Given the description of an element on the screen output the (x, y) to click on. 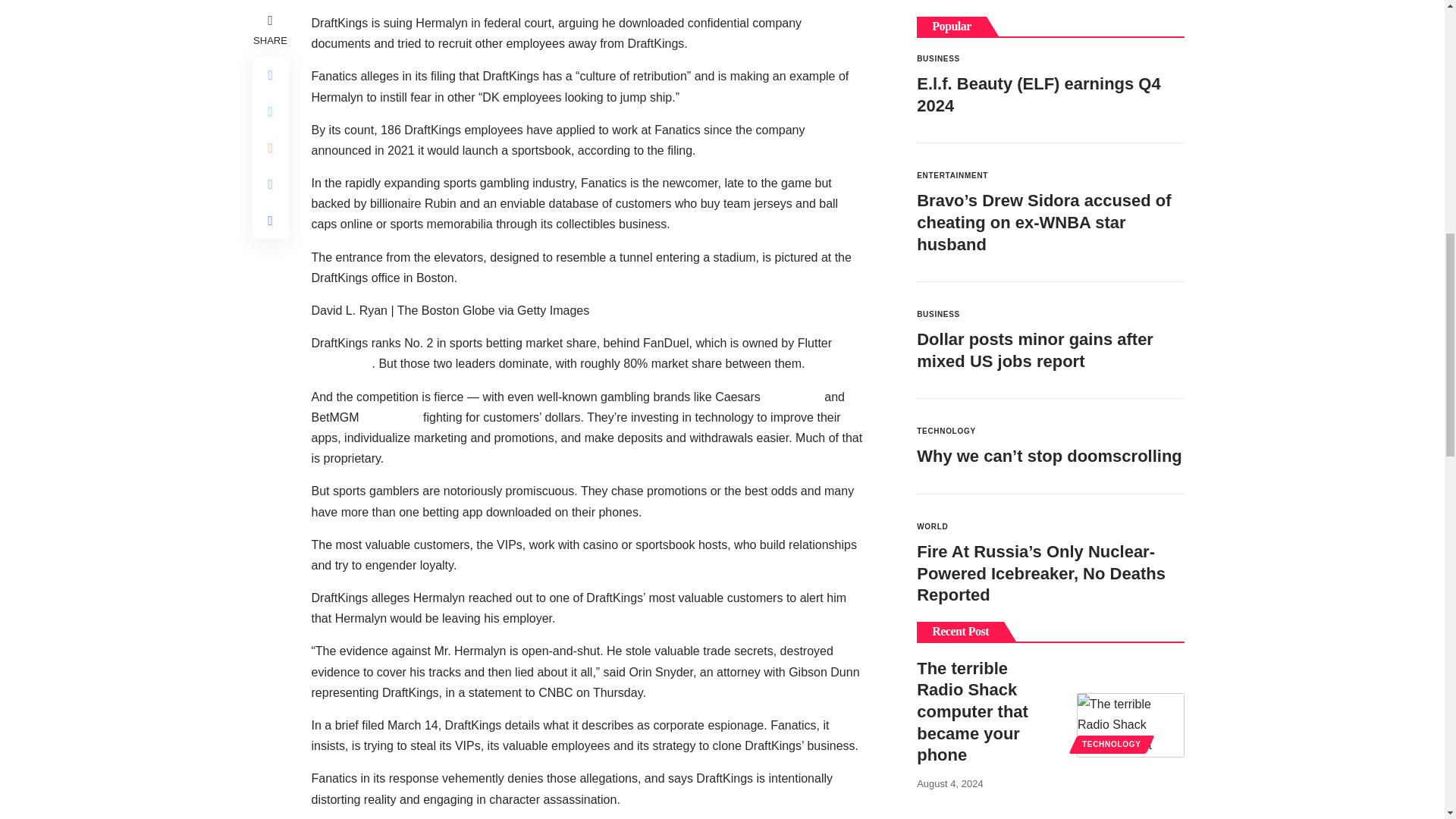
The terrible Radio Shack computer that became your phone (1131, 470)
Crimson With Shame (1131, 598)
Make your house a smart home for less than dinner (1131, 704)
